Given the description of an element on the screen output the (x, y) to click on. 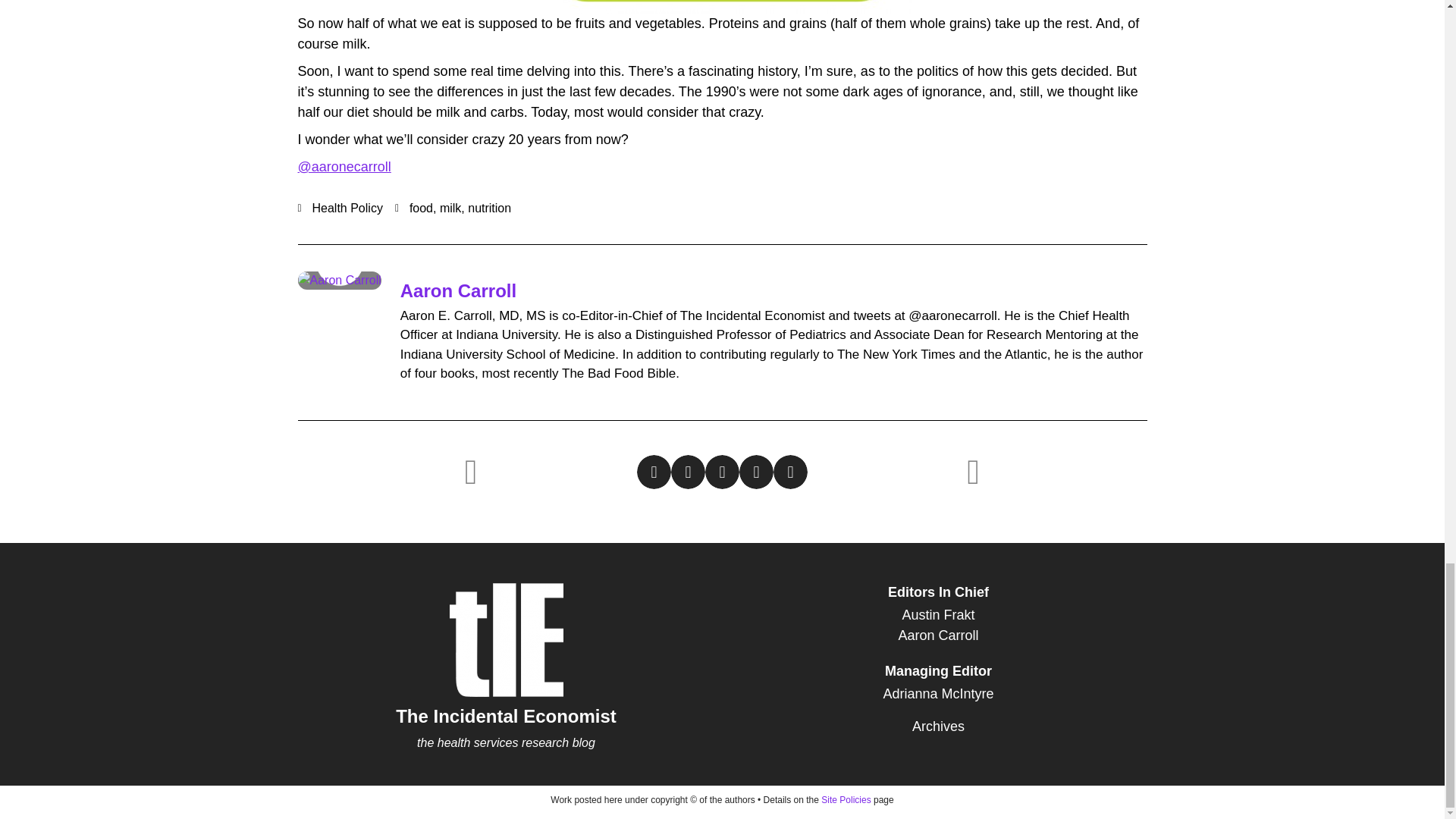
food (420, 207)
Adrianna McIntyre (938, 693)
Austin Frakt (938, 615)
Site Policies (845, 799)
nutrition (489, 207)
Aaron Carroll (938, 635)
Aaron Carroll (458, 290)
Archives (938, 726)
Health Policy (347, 207)
milk (450, 207)
